Given the description of an element on the screen output the (x, y) to click on. 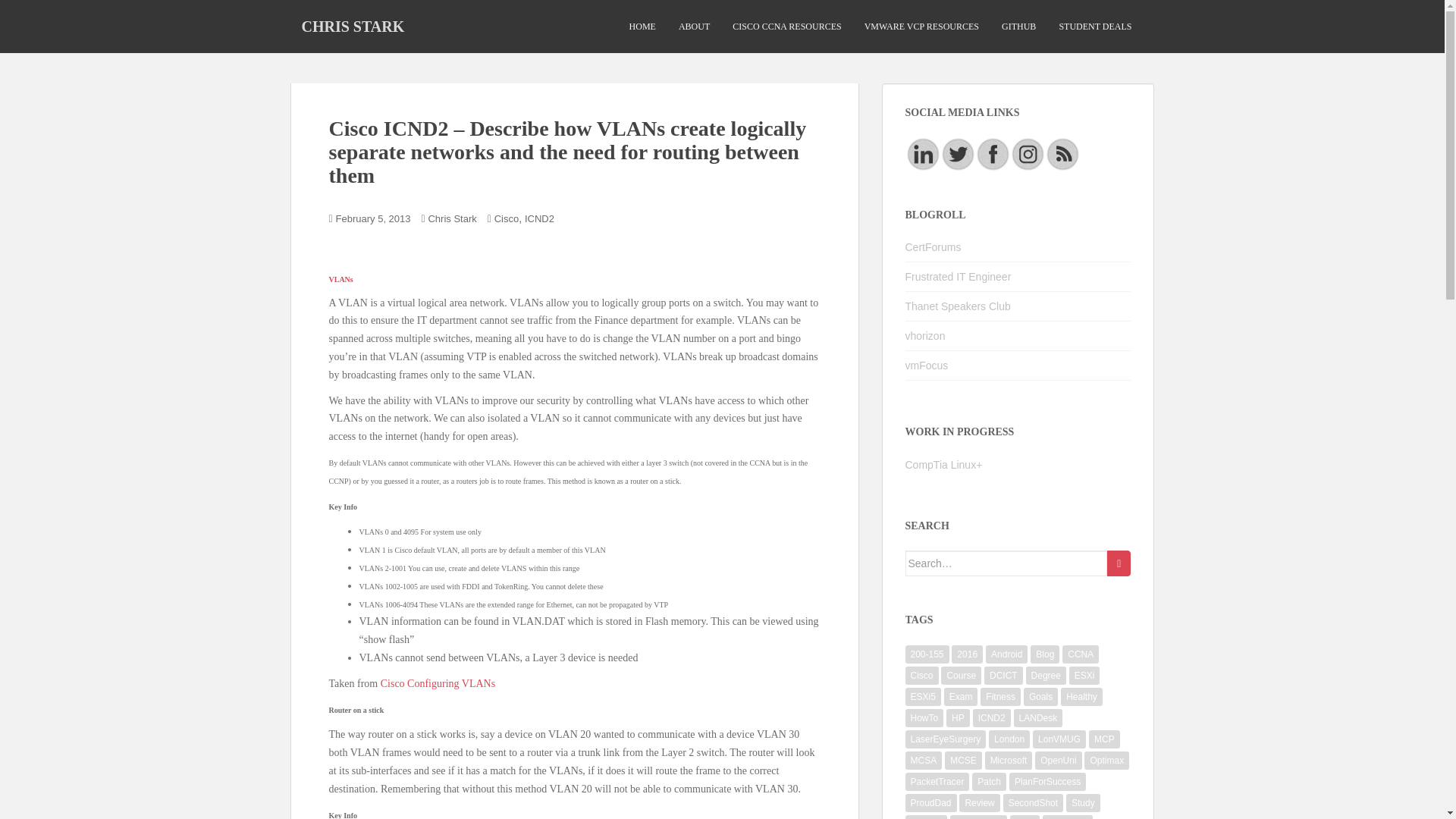
Cisco Configuring VLANs (437, 683)
Visit Us On Twitter (957, 153)
February 5, 2013 (373, 218)
ABOUT (694, 26)
Chris Stark (452, 218)
Thanet Speakers Club (957, 306)
Visit Us On Linkedin (922, 153)
Visit Us On Facebook (992, 153)
STUDENT DEALS (1094, 26)
VMWARE VCP RESOURCES (921, 26)
